Given the description of an element on the screen output the (x, y) to click on. 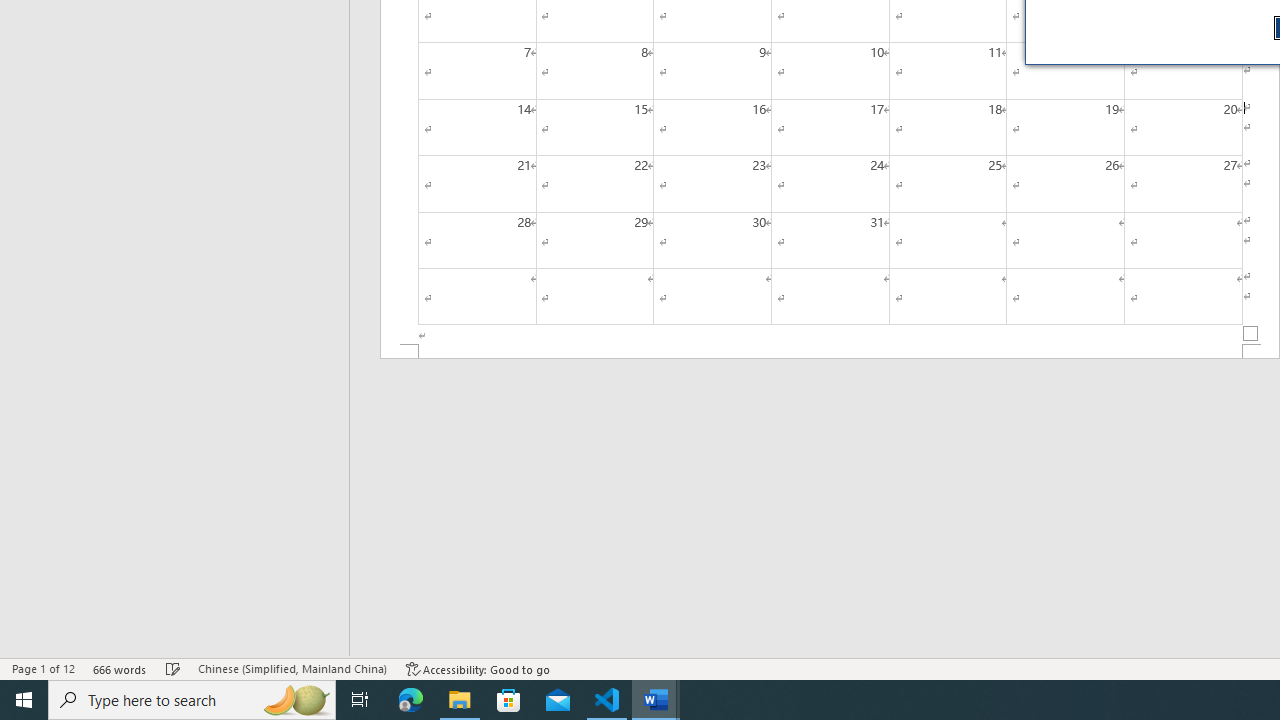
Word Count 666 words (119, 668)
Word - 2 running windows (656, 699)
File Explorer - 1 running window (460, 699)
Microsoft Edge (411, 699)
Page Number Page 1 of 12 (43, 668)
